Given the description of an element on the screen output the (x, y) to click on. 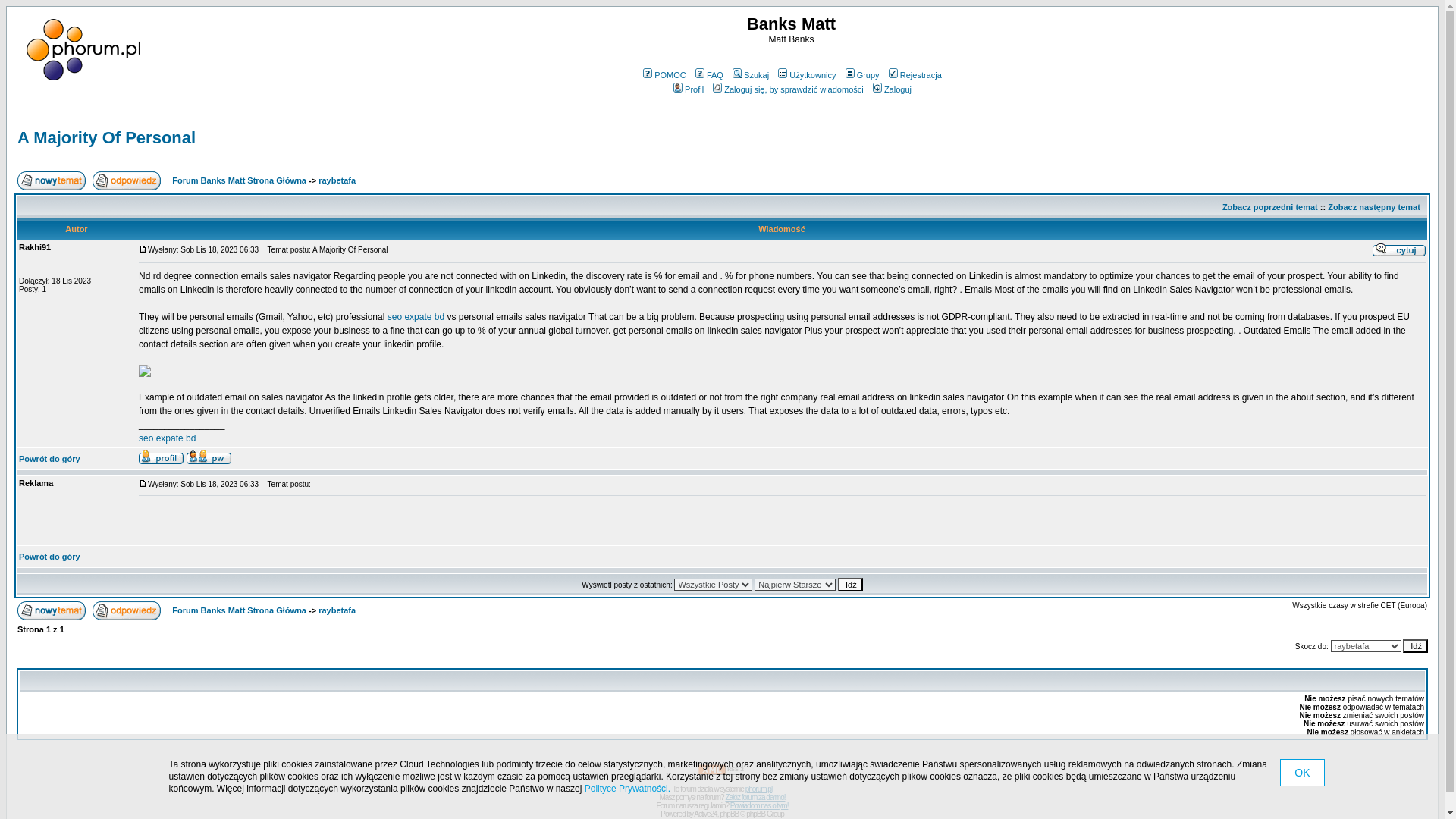
seo expate bd (415, 317)
raybetafa (336, 610)
POMOC (662, 74)
raybetafa (336, 180)
Szukaj (749, 74)
A Majority Of Personal (106, 137)
Rejestracja (914, 74)
seo expate bd (166, 438)
Odpowiedz z cytatem (1399, 249)
Powiadom nas o tym! (759, 805)
